Given the description of an element on the screen output the (x, y) to click on. 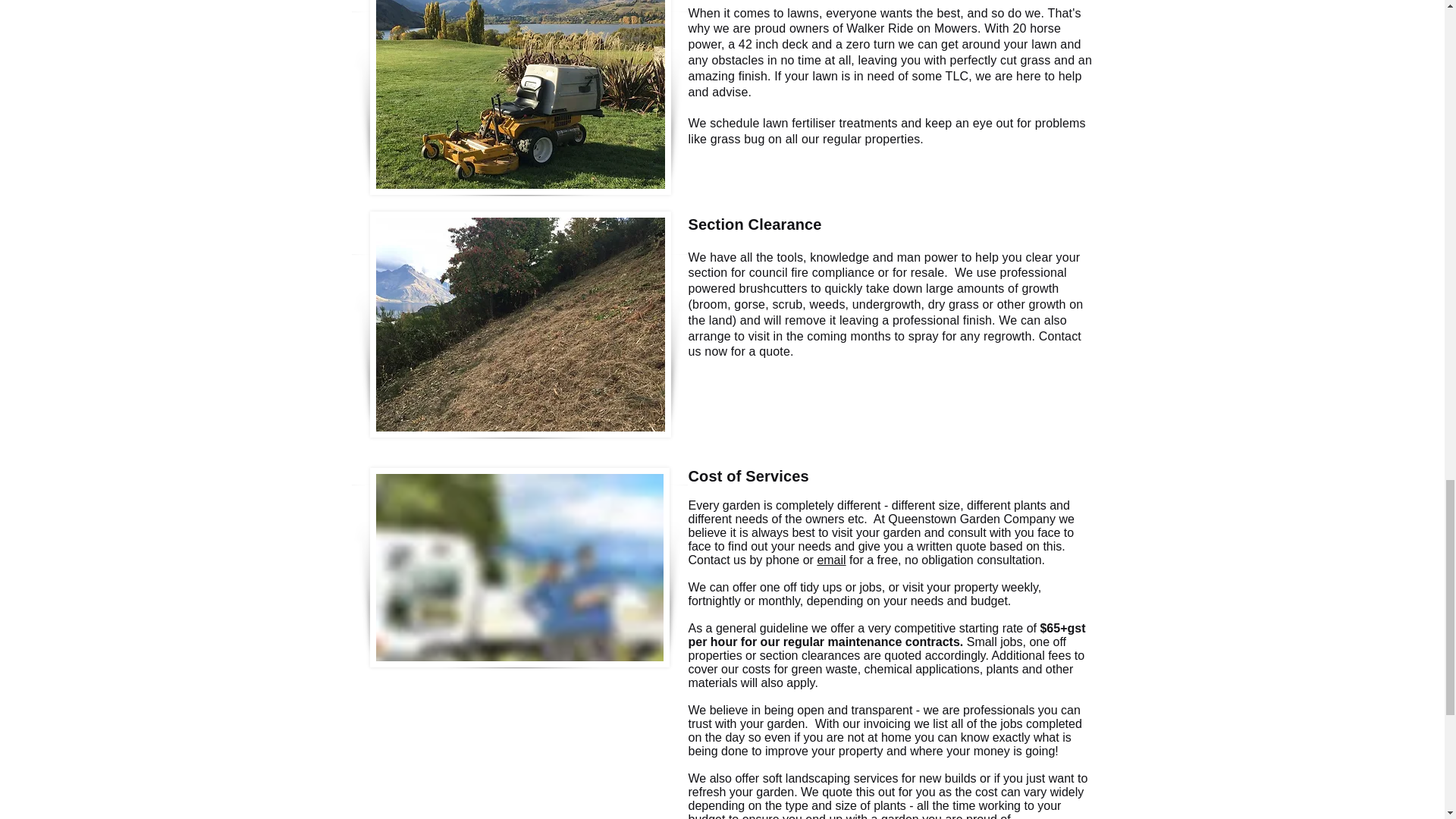
email (830, 559)
